Given the description of an element on the screen output the (x, y) to click on. 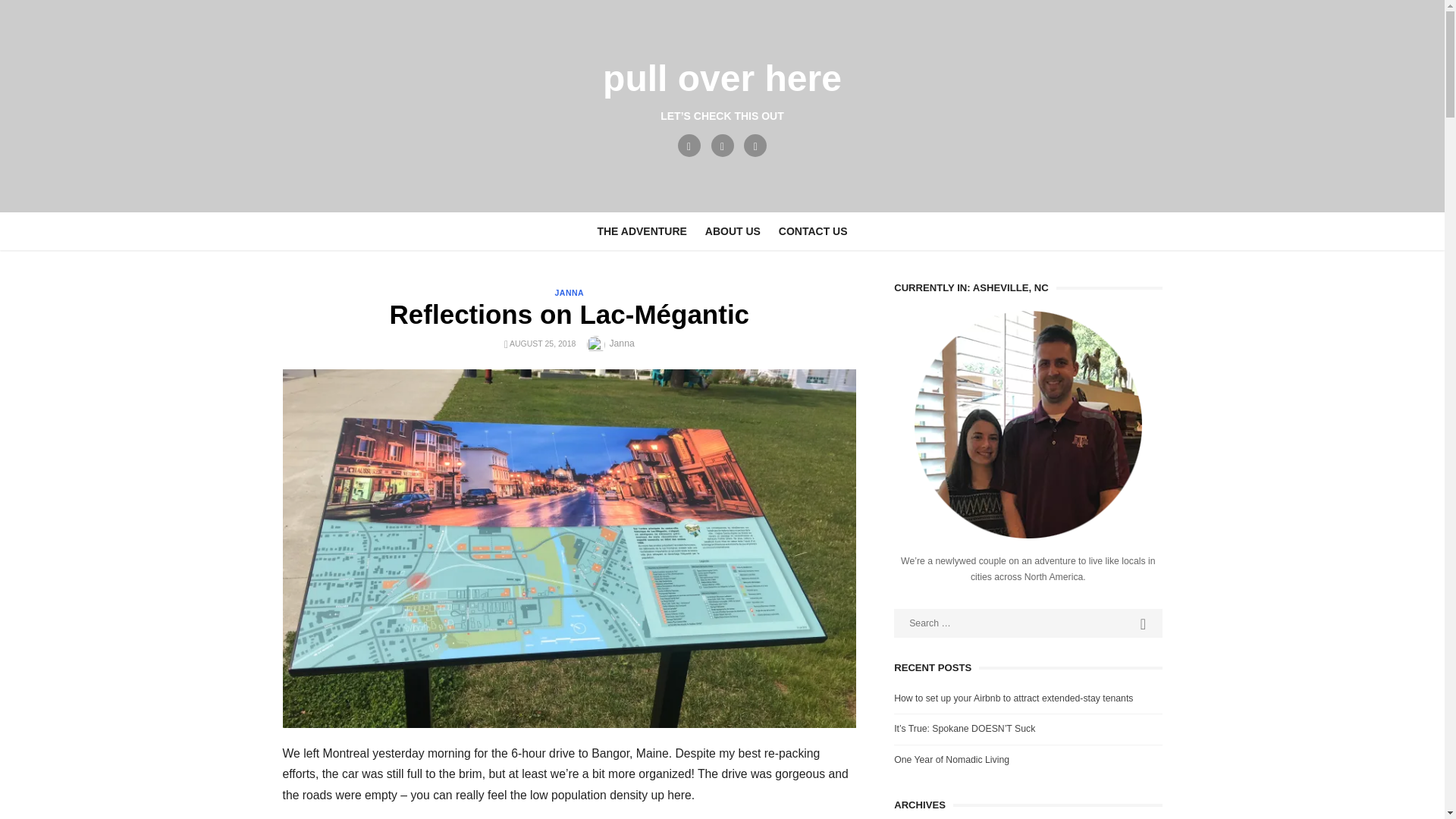
THE ADVENTURE (641, 231)
ABOUT US (732, 231)
JANNA (568, 292)
pull over here (721, 78)
AUGUST 25, 2018 (542, 343)
Janna (620, 343)
CONTACT US (813, 231)
